Given the description of an element on the screen output the (x, y) to click on. 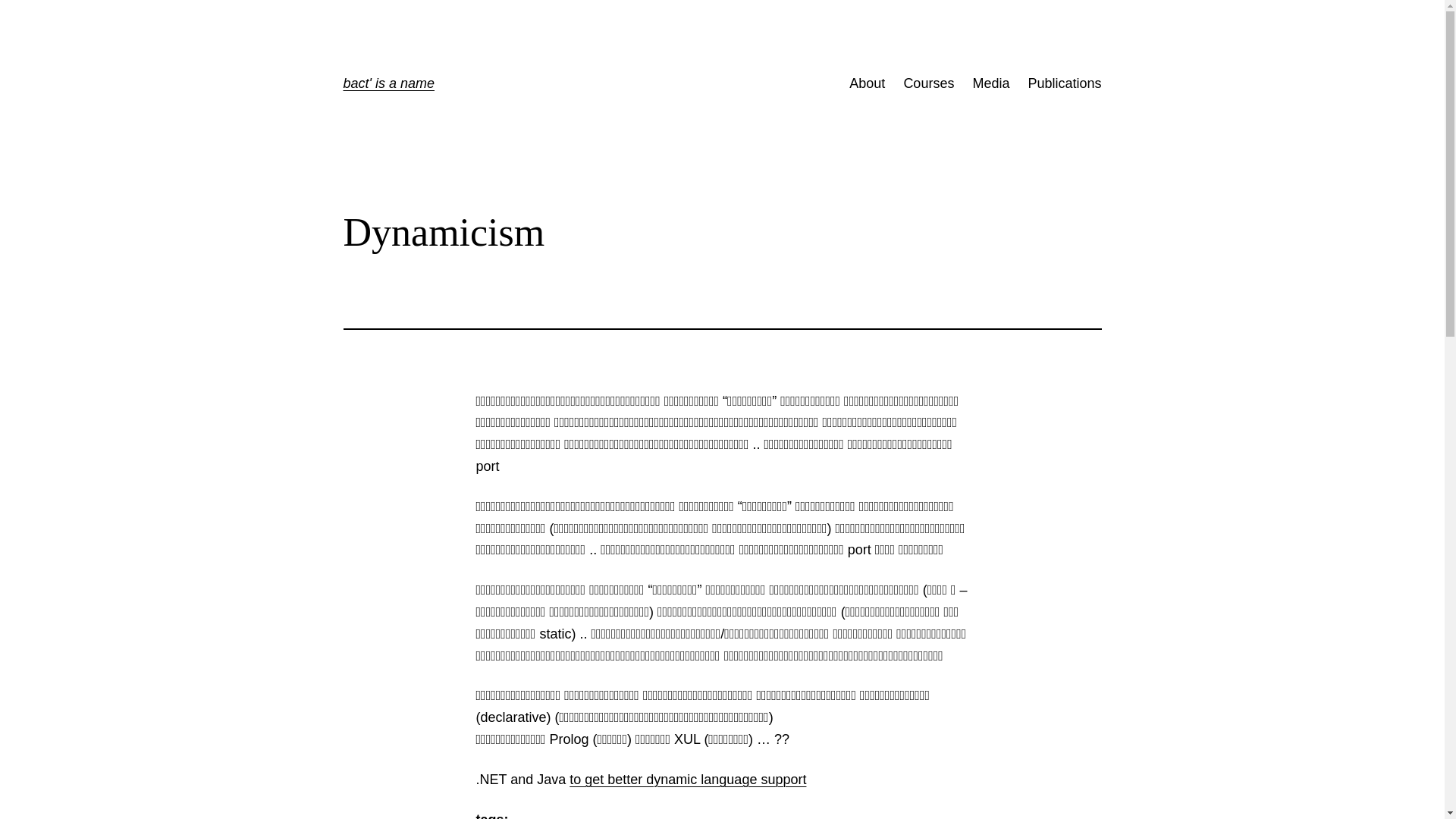
About Element type: text (866, 83)
Media Element type: text (990, 83)
bact' is a name Element type: text (388, 83)
Courses Element type: text (928, 83)
Publications Element type: text (1064, 83)
to get better dynamic language support Element type: text (687, 779)
